Given the description of an element on the screen output the (x, y) to click on. 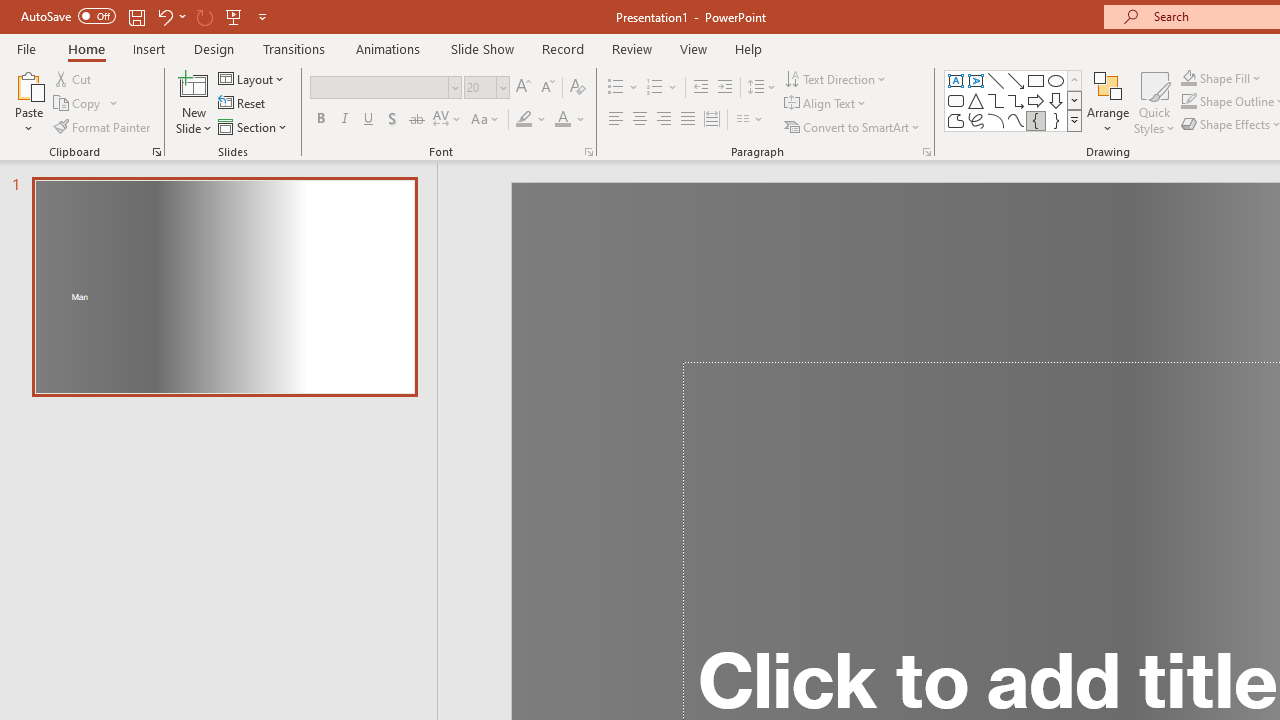
Character Spacing (447, 119)
Row Down (1074, 100)
Underline (369, 119)
Font Color Red (562, 119)
Open (502, 87)
Text Highlight Color (531, 119)
